Given the description of an element on the screen output the (x, y) to click on. 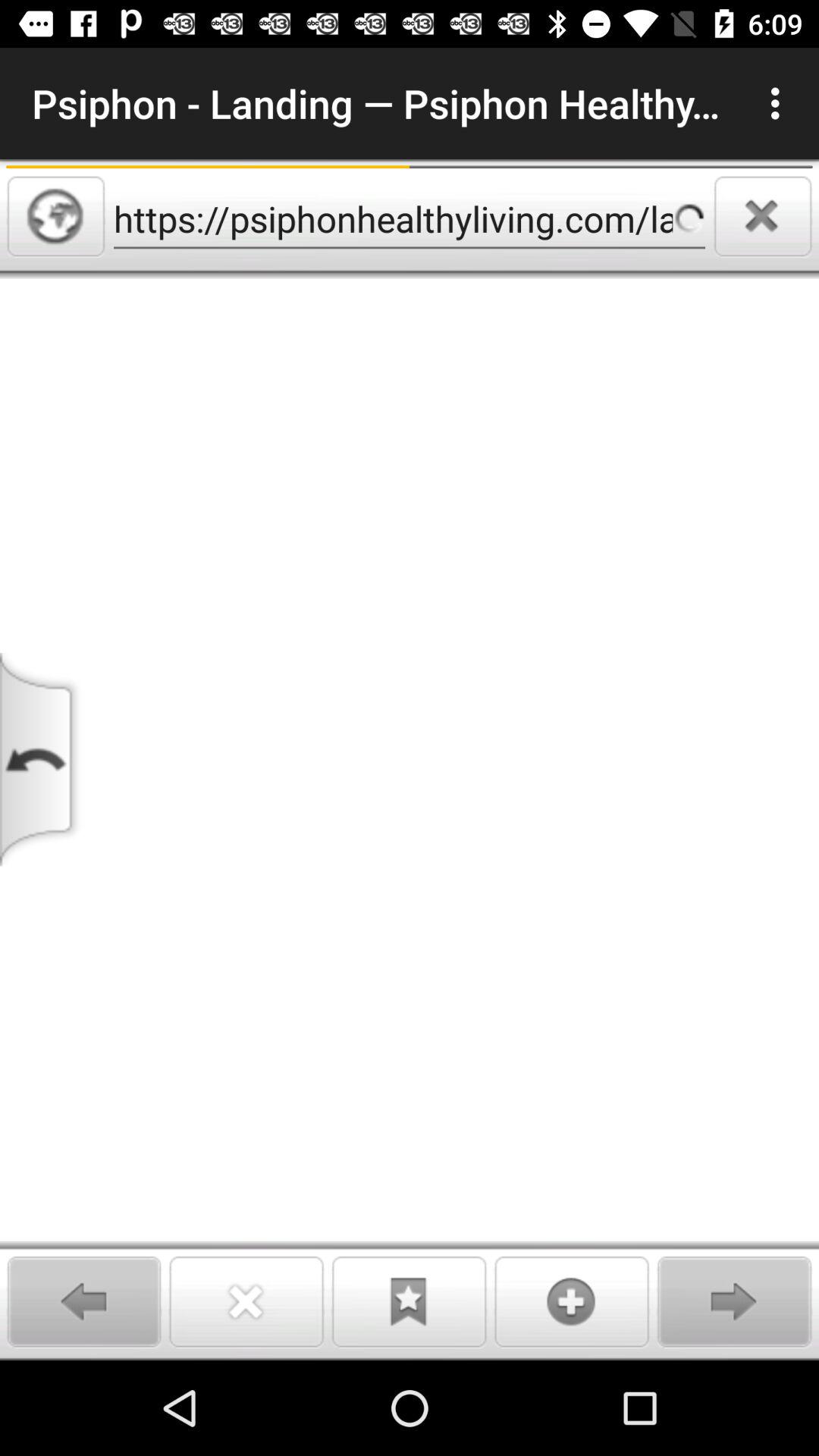
go back (84, 1301)
